Given the description of an element on the screen output the (x, y) to click on. 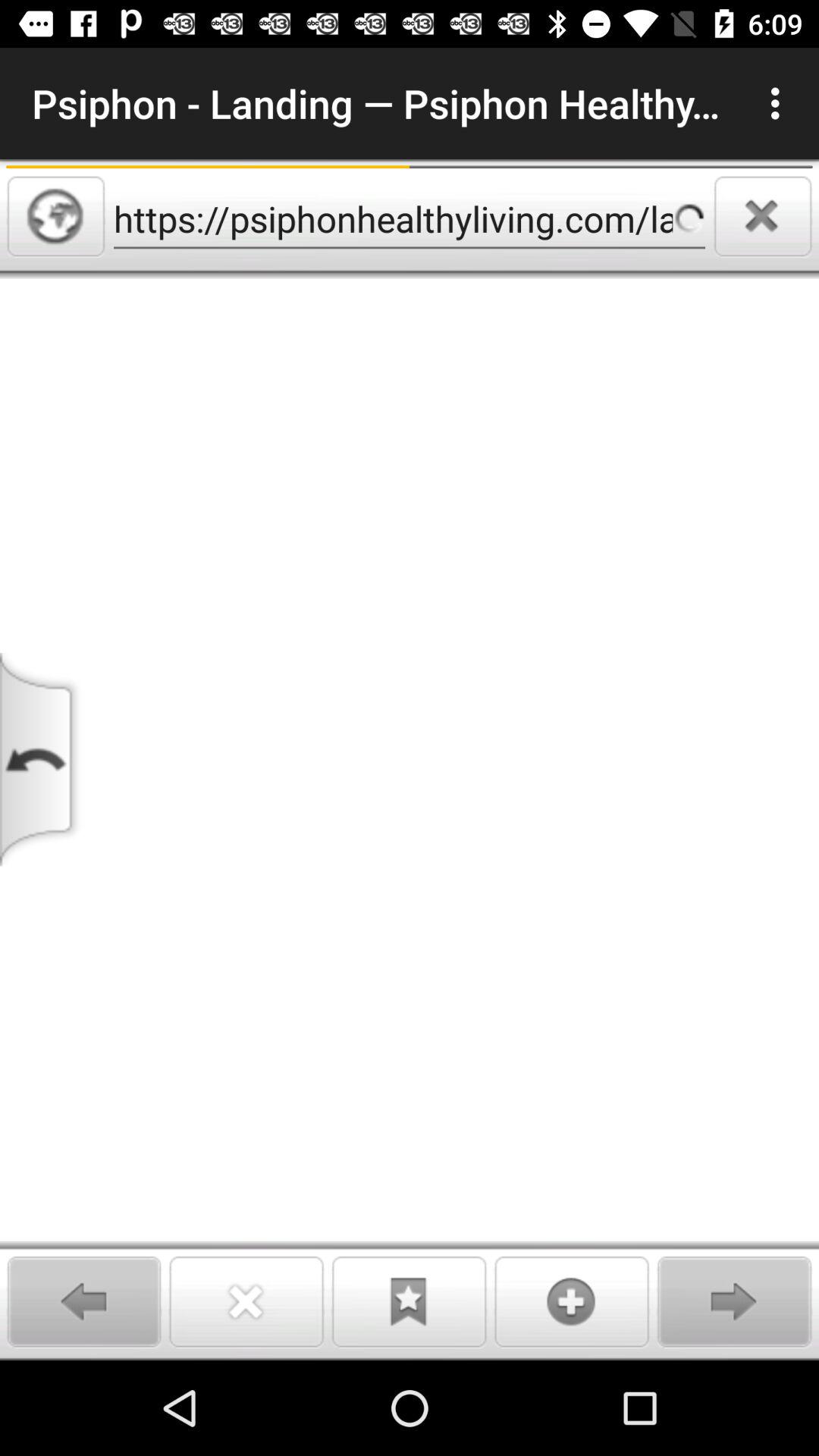
go back (84, 1301)
